Given the description of an element on the screen output the (x, y) to click on. 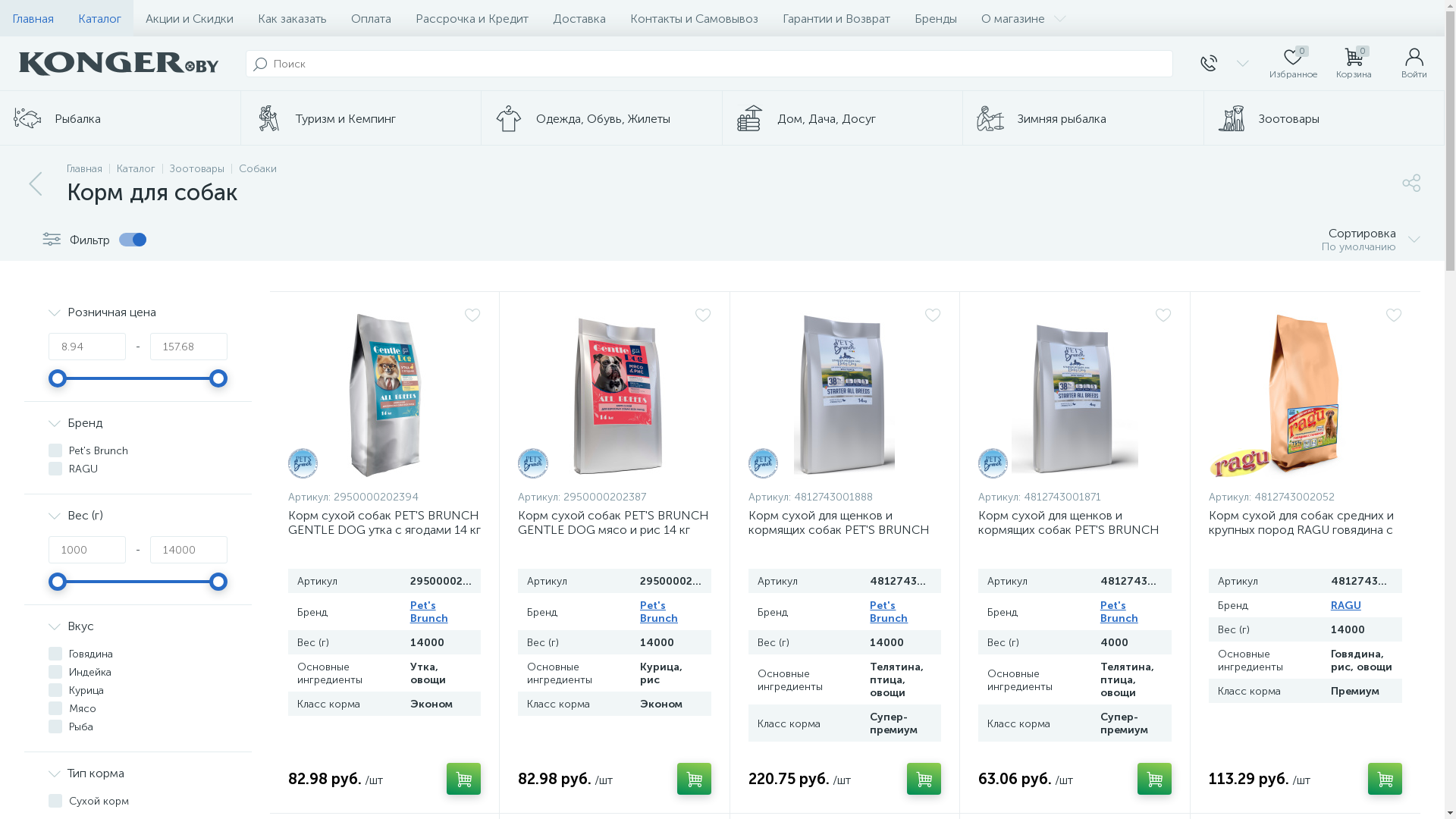
Pet's Brunch Element type: text (888, 611)
Pet's Brunch Element type: text (1119, 611)
Y Element type: text (4, 4)
Pet's Brunch Element type: hover (992, 463)
Pet's Brunch Element type: hover (763, 463)
Pet's Brunch Element type: text (658, 611)
RAGU Element type: hover (1240, 463)
Pet's Brunch Element type: hover (532, 463)
Pet's Brunch Element type: text (429, 611)
Pet's Brunch Element type: hover (302, 463)
RAGU Element type: text (1345, 605)
